Given the description of an element on the screen output the (x, y) to click on. 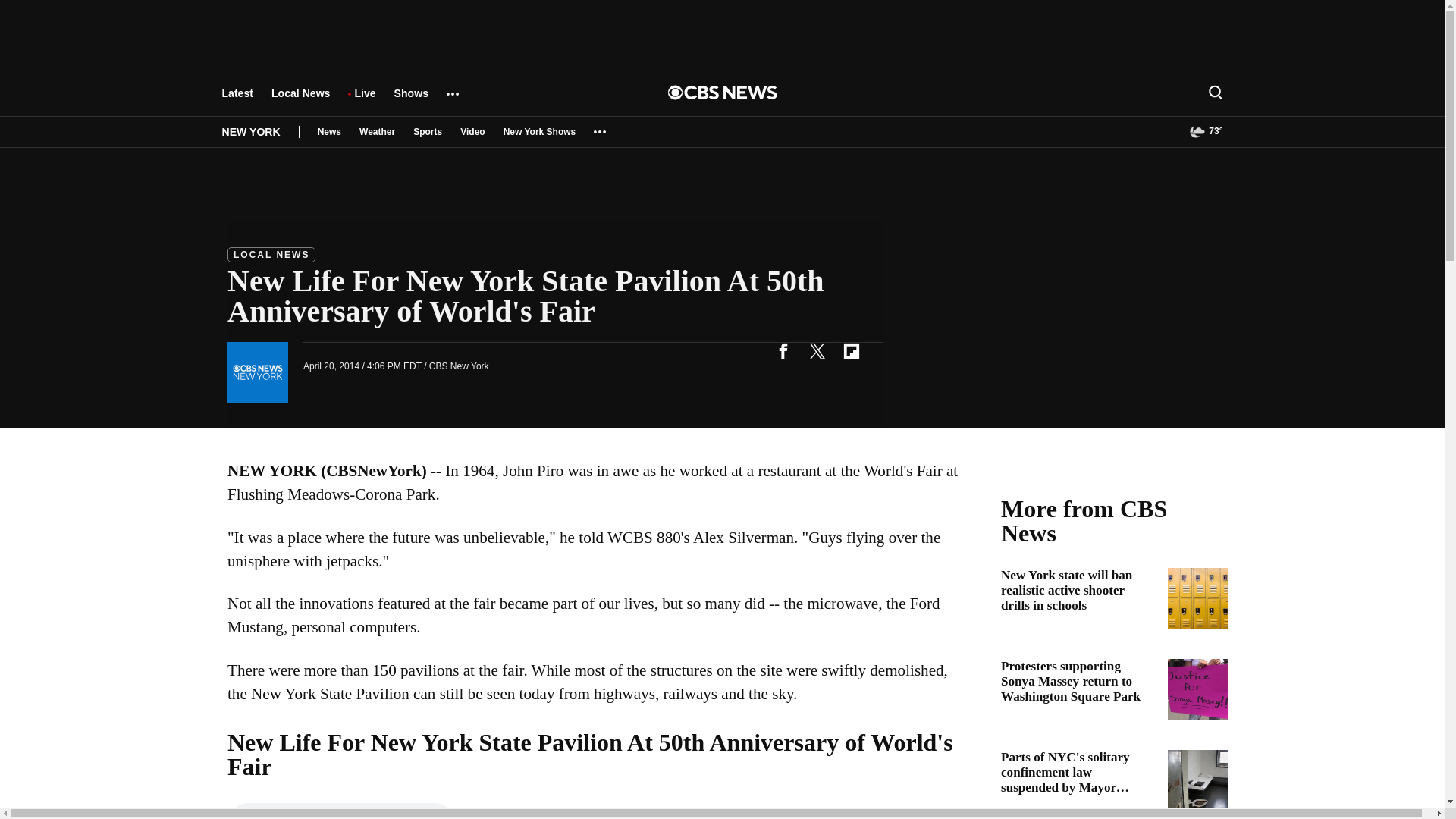
facebook (782, 350)
flipboard (850, 350)
Latest (236, 100)
Local News (300, 100)
twitter (816, 350)
